Given the description of an element on the screen output the (x, y) to click on. 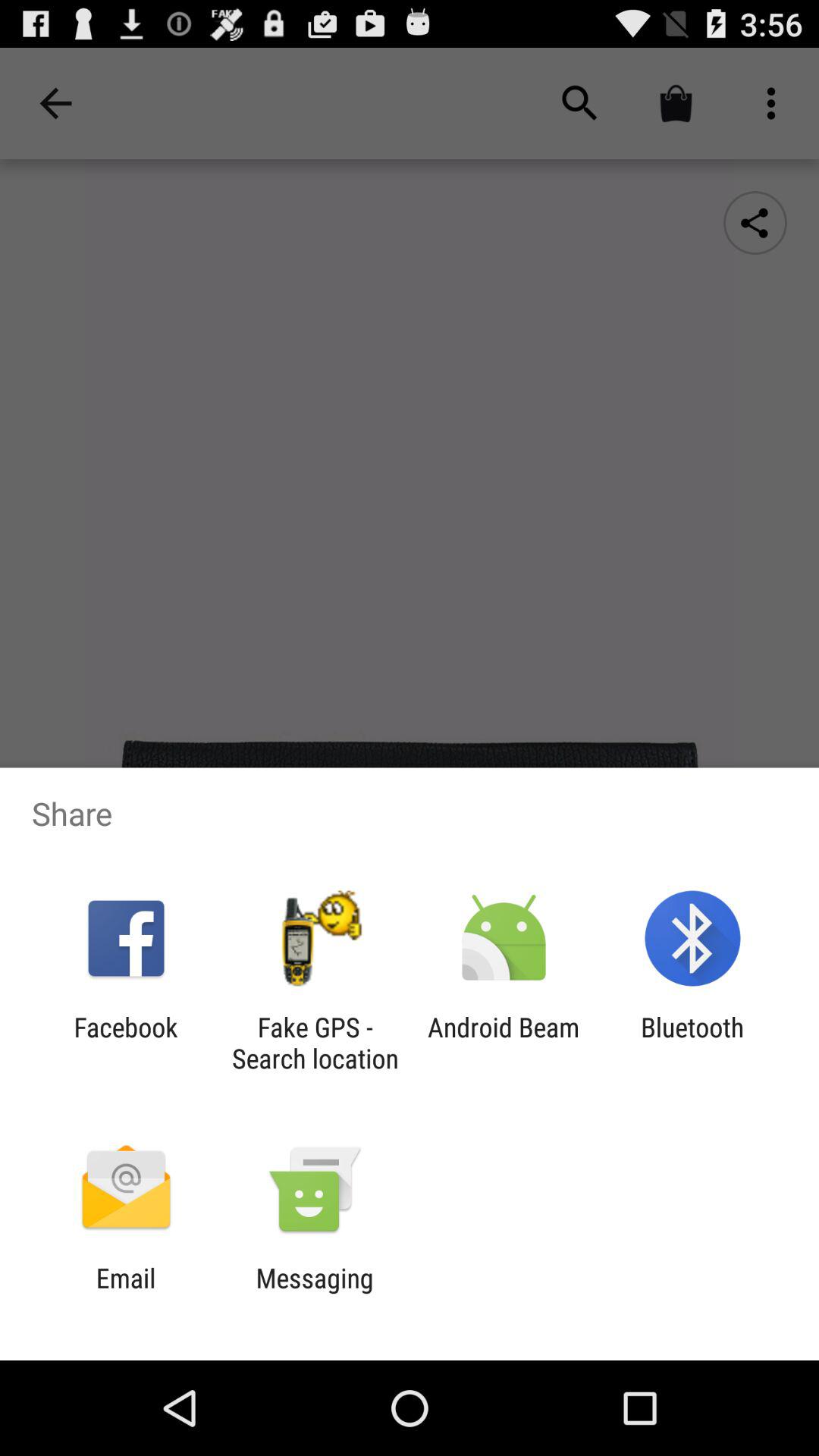
flip to messaging item (314, 1293)
